Given the description of an element on the screen output the (x, y) to click on. 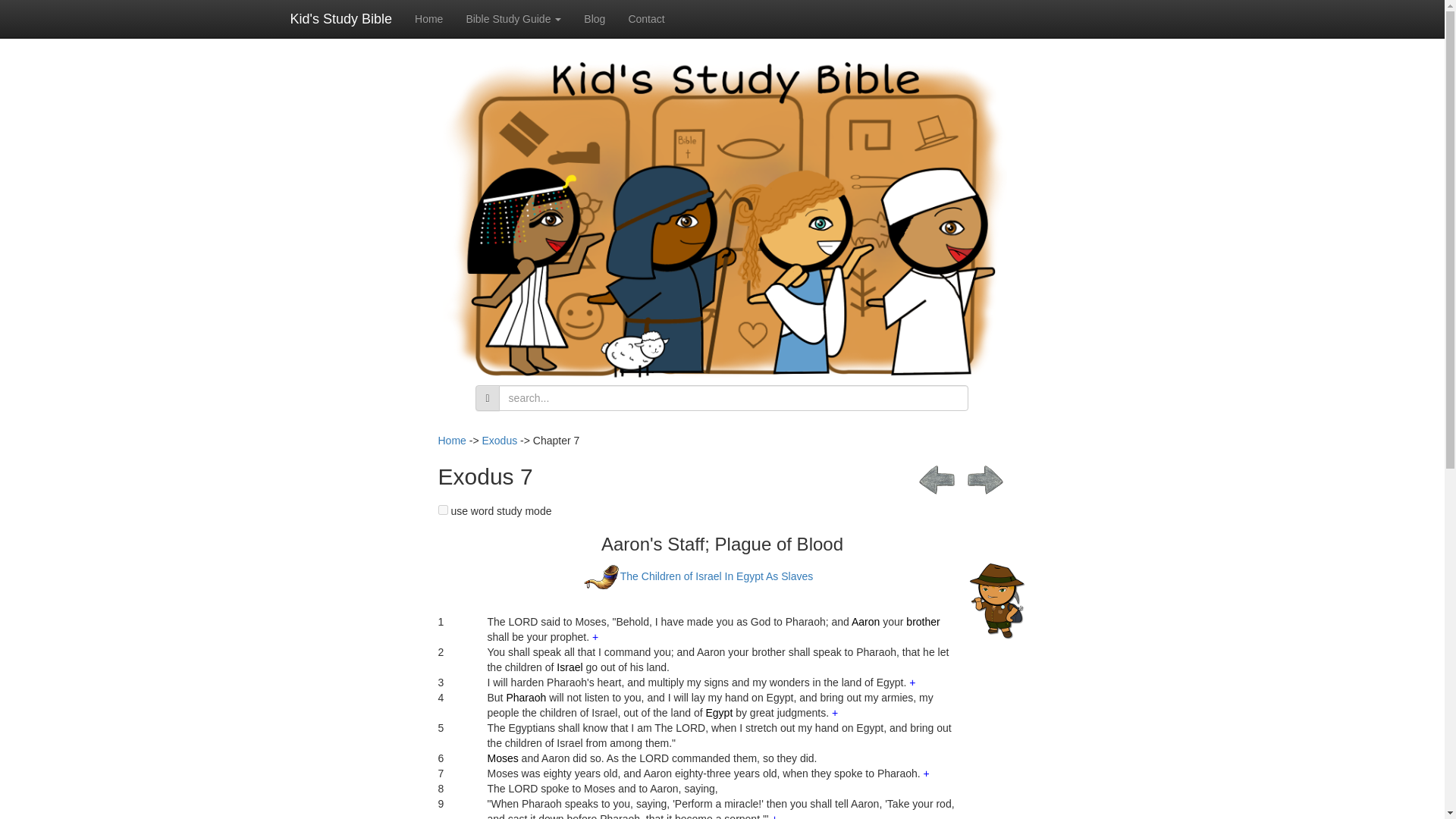
Contact (645, 18)
brother (922, 621)
The Children of Israel In Egypt As Slaves (697, 576)
Kid's Study Bible (341, 18)
Pharaoh (525, 697)
Brother (922, 621)
Moses (502, 758)
Bible Study Guide (513, 18)
Blog (593, 18)
Home (451, 440)
Home (428, 18)
Egypt (718, 712)
Aaron (865, 621)
Moses (502, 758)
Exodus  1:1 - Exodus  12:36 (697, 576)
